Given the description of an element on the screen output the (x, y) to click on. 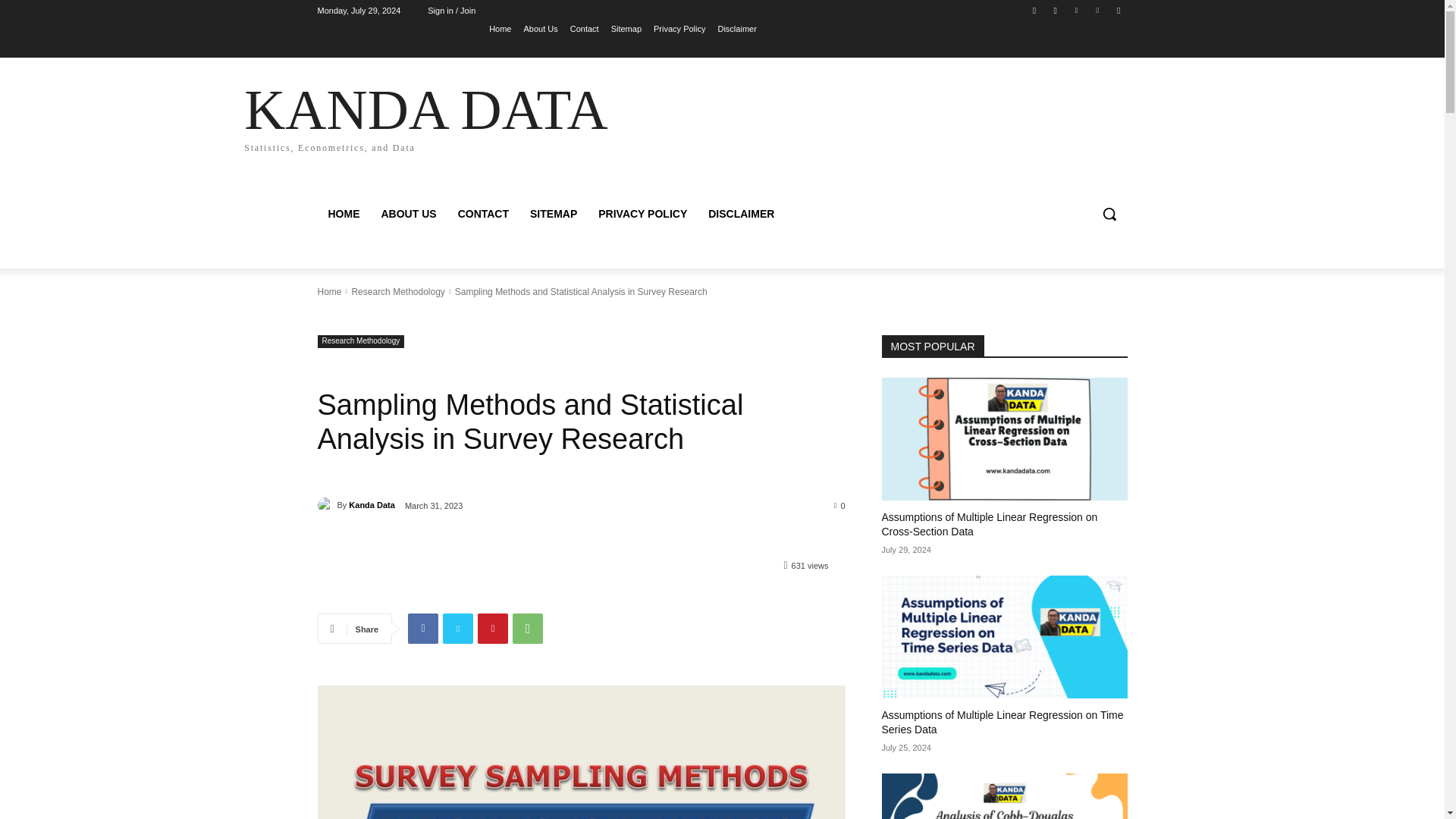
Facebook (1034, 9)
Youtube (1117, 9)
Vimeo (1097, 9)
Instagram (1055, 9)
Twitter (457, 628)
ABOUT US (407, 213)
Kanda Data (326, 504)
About Us (539, 28)
Twitter (1075, 9)
Sitemap (626, 28)
DISCLAIMER (740, 213)
Privacy Policy (678, 28)
Disclaimer (736, 28)
WhatsApp (527, 628)
Kanda Data (371, 504)
